Given the description of an element on the screen output the (x, y) to click on. 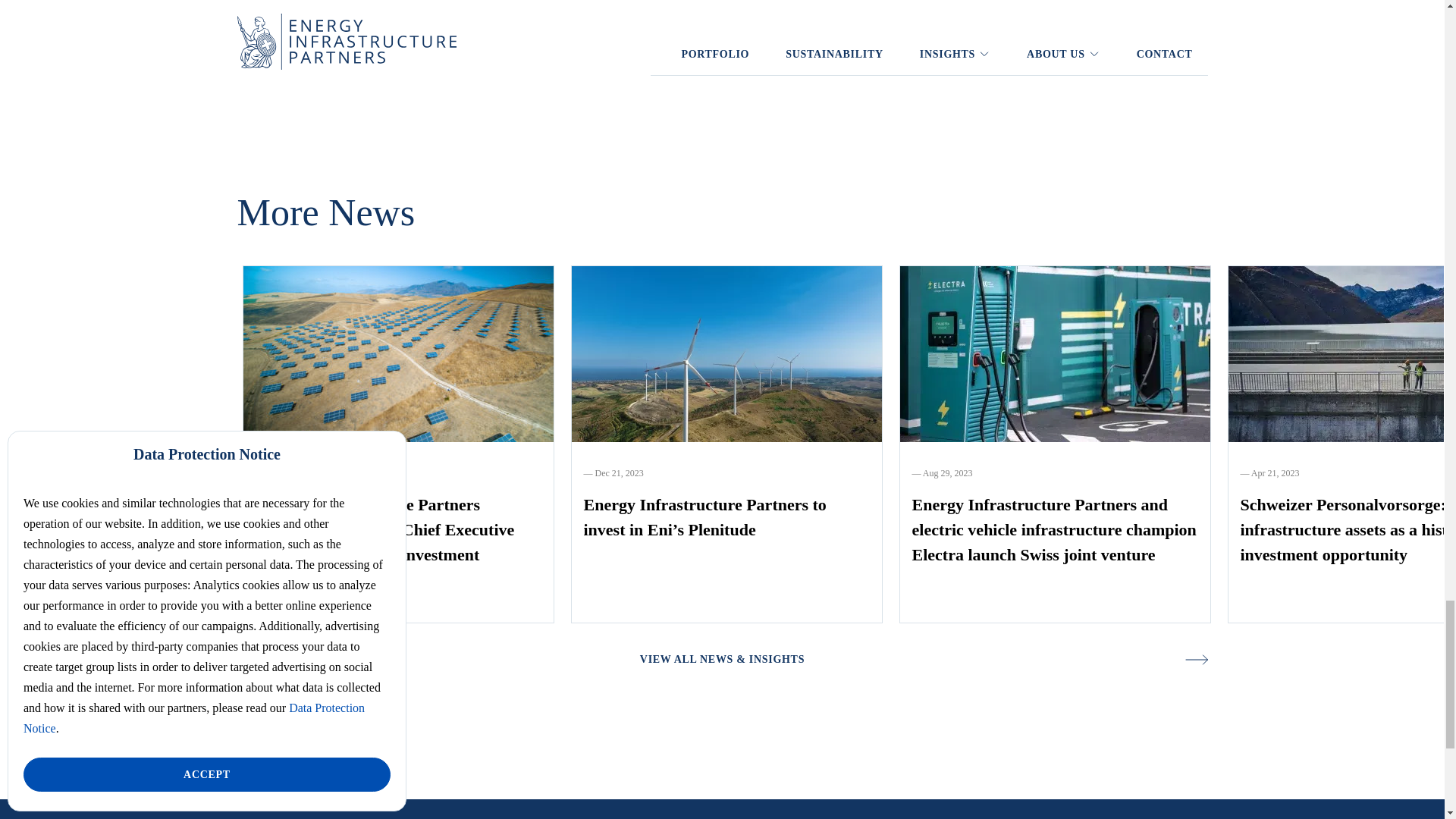
SHARE (663, 47)
NEXT (785, 47)
